Given the description of an element on the screen output the (x, y) to click on. 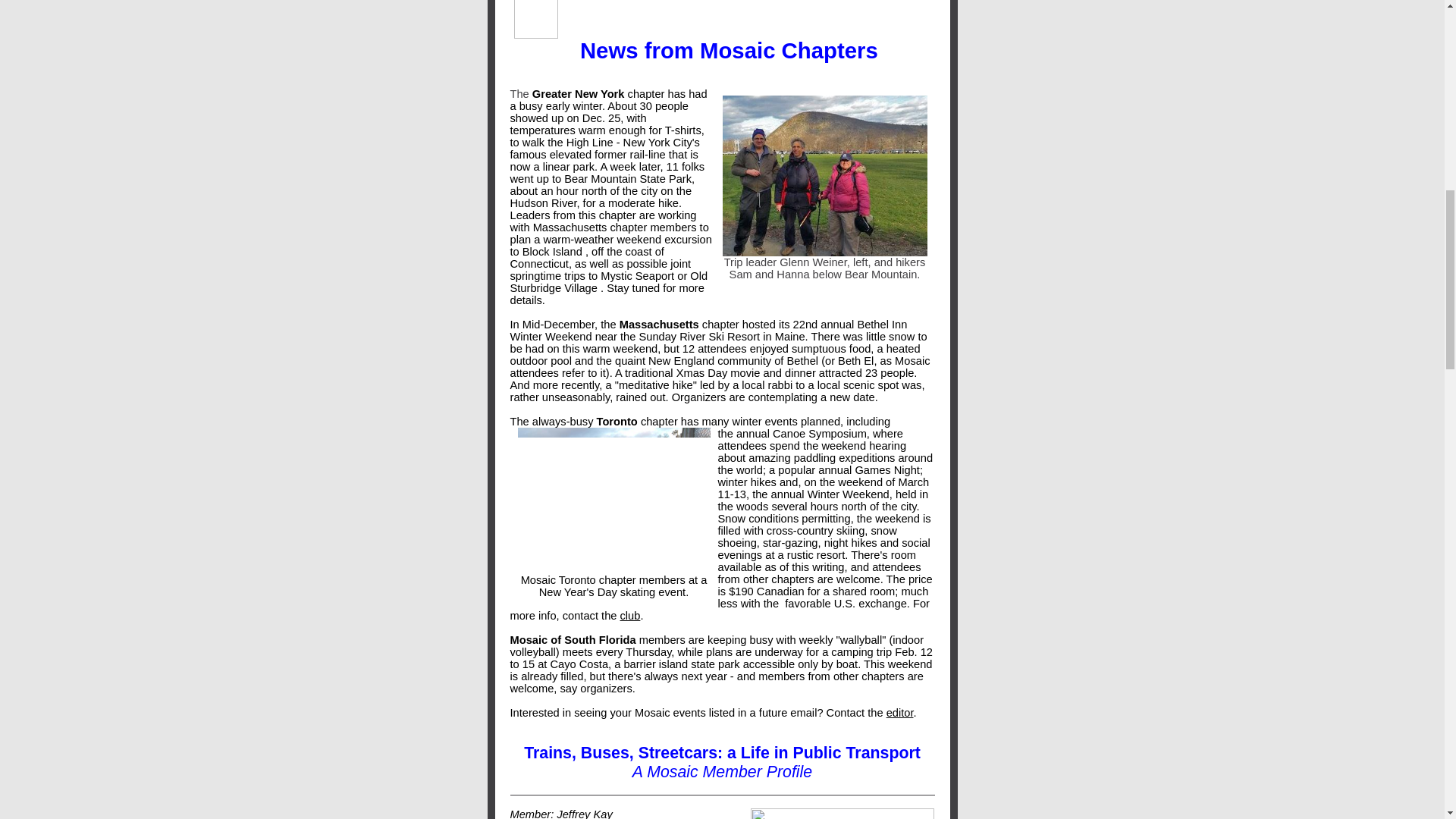
editor (900, 712)
Mystic Seaport (636, 275)
Old Sturbridge Village (608, 282)
club (630, 615)
available (739, 567)
Block Island (552, 251)
Cayo Costa (579, 664)
